Given the description of an element on the screen output the (x, y) to click on. 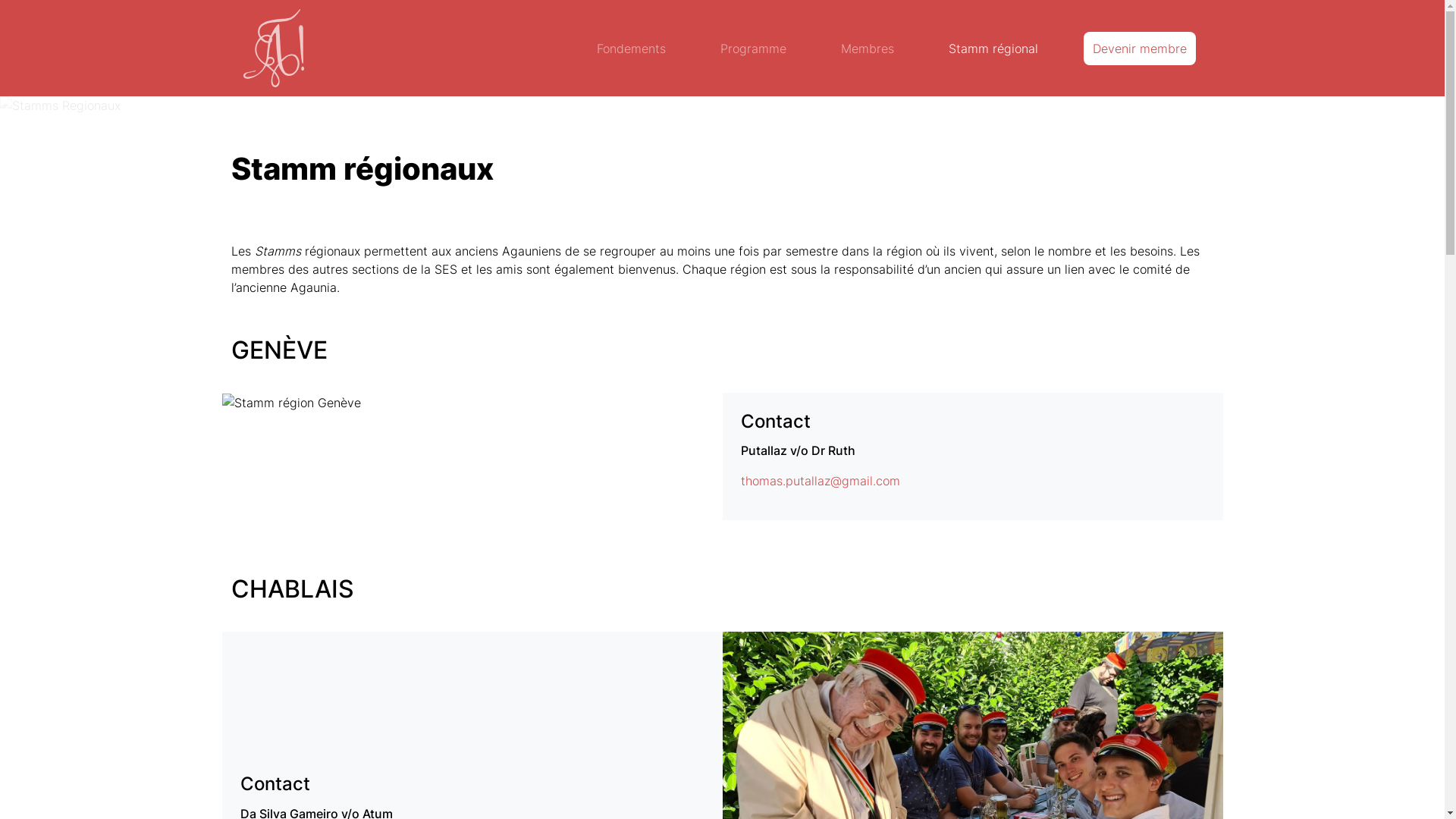
Fondements Element type: text (630, 48)
thomas.putallaz@gmail.com Element type: text (819, 480)
Devenir membre Element type: text (1138, 48)
Membres Element type: text (866, 48)
Programme Element type: text (753, 48)
